Given the description of an element on the screen output the (x, y) to click on. 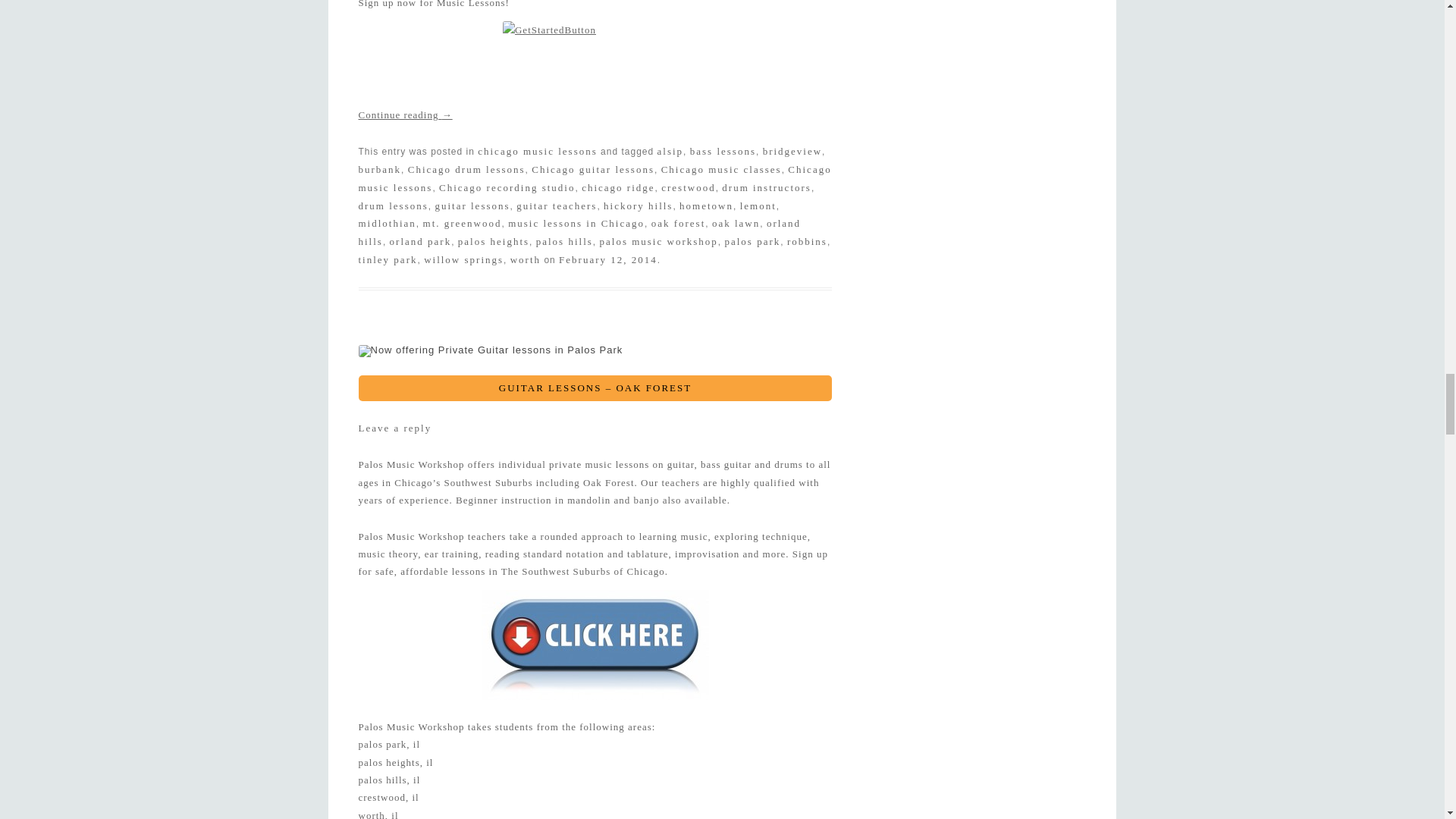
Contact (594, 62)
12:15 pm (608, 259)
